Given the description of an element on the screen output the (x, y) to click on. 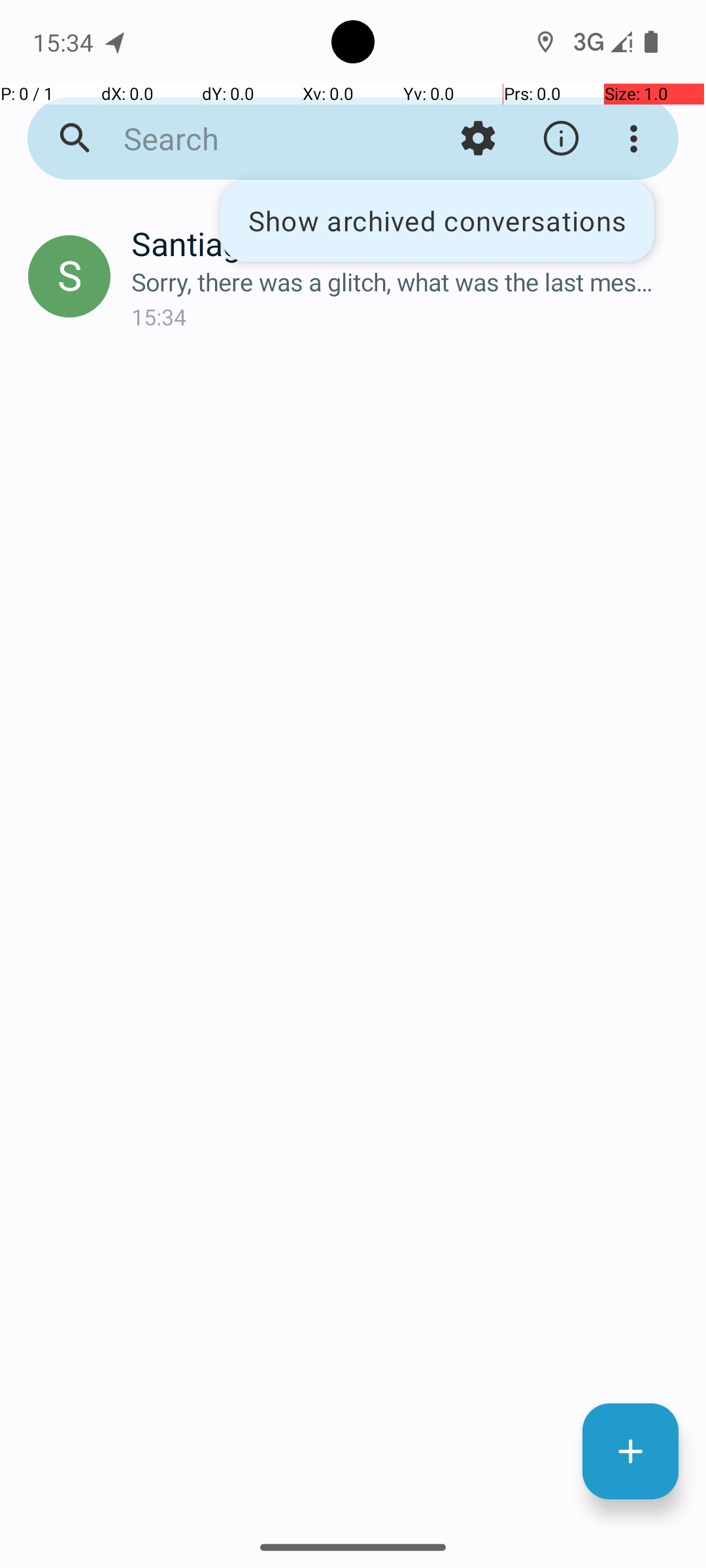
Show archived conversations Element type: android.widget.TextView (436, 220)
